Given the description of an element on the screen output the (x, y) to click on. 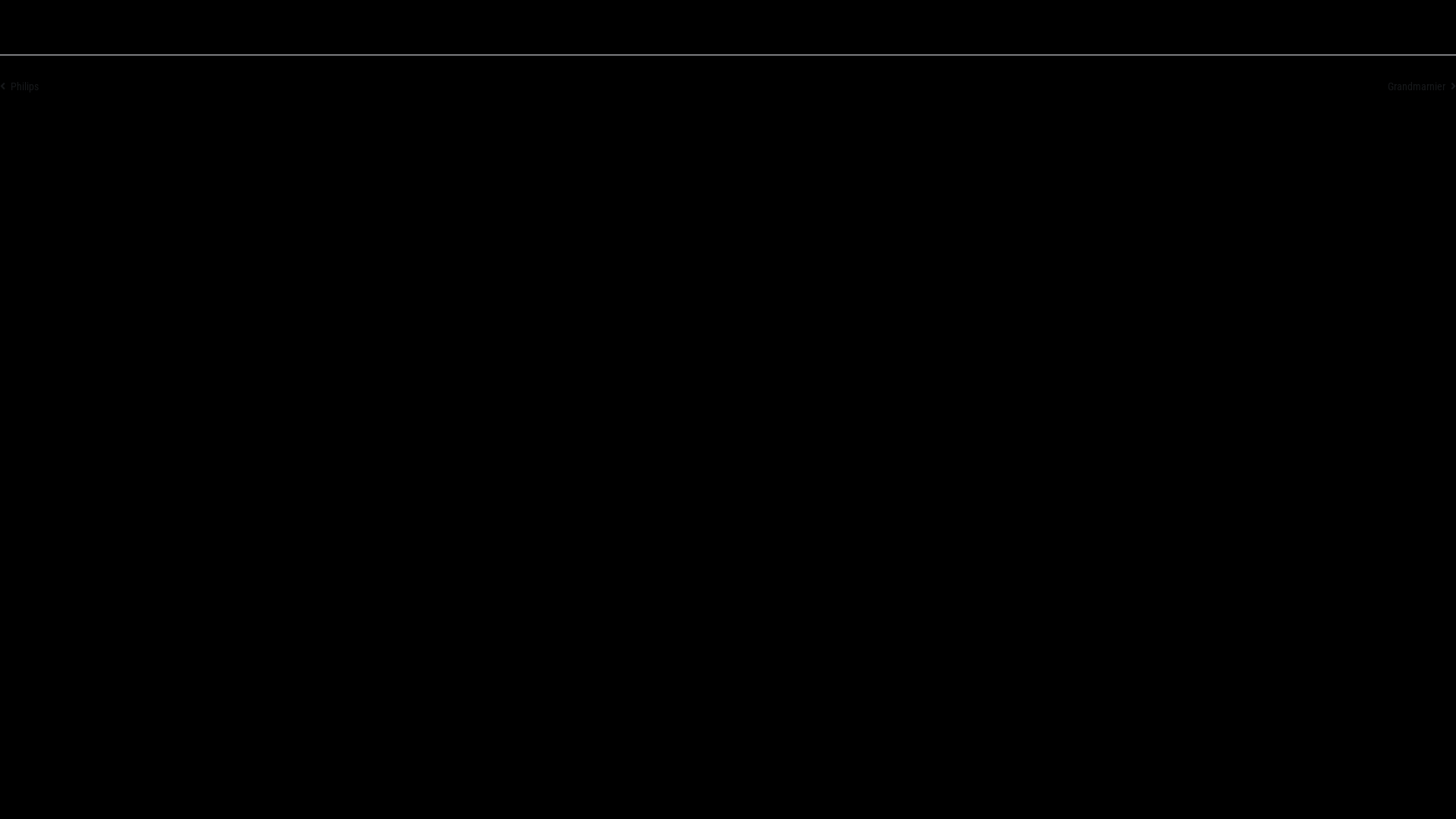
Philips Element type: text (19, 86)
